Given the description of an element on the screen output the (x, y) to click on. 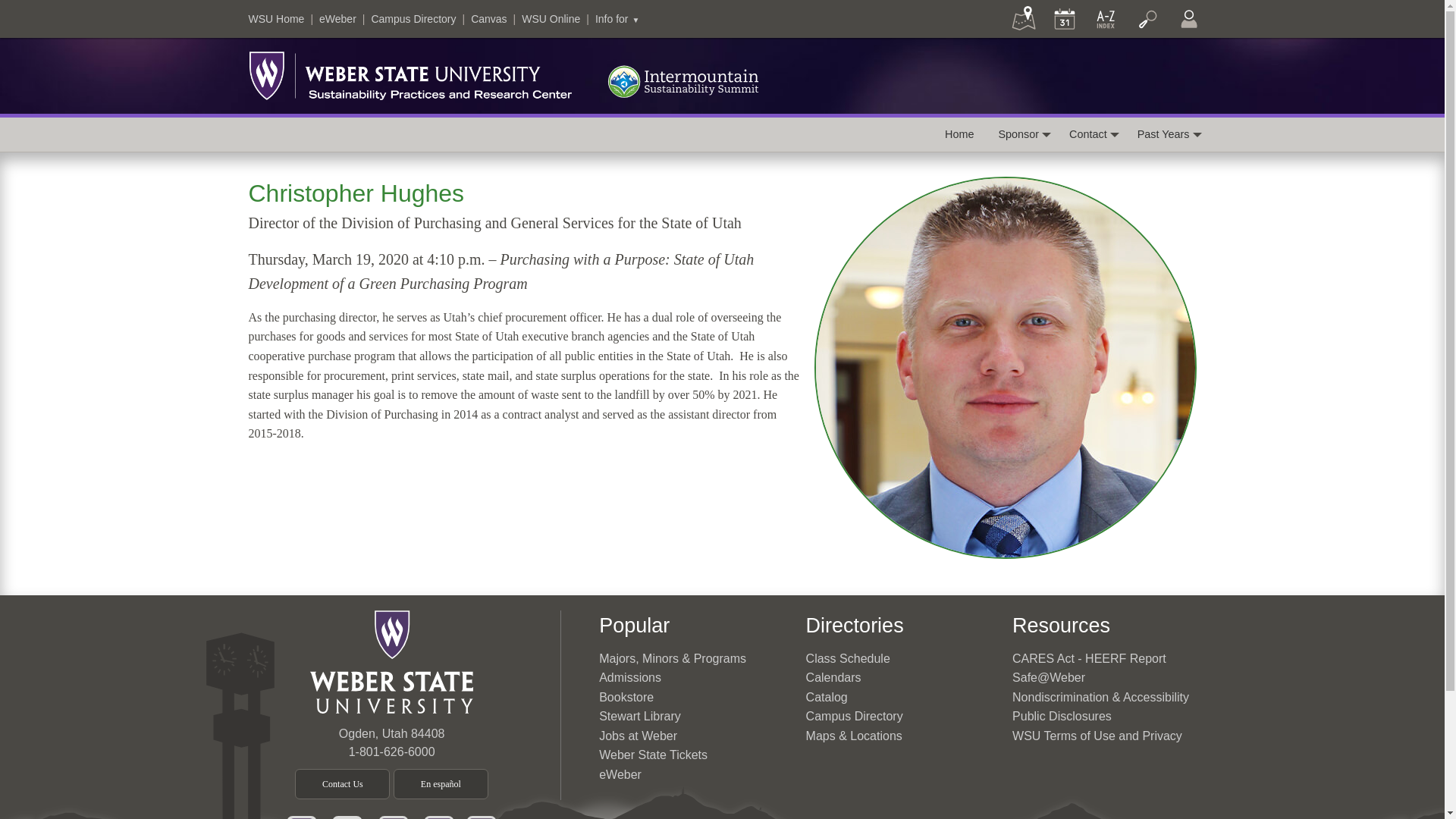
Follow us on Instagram (438, 815)
Follow us on X (393, 815)
Follow us on TikTok (480, 815)
Info for (617, 19)
eWeber (337, 19)
Like us on Facebook (301, 815)
WSU Home (276, 19)
WSU Online (550, 19)
Canvas (488, 19)
Subscribe to our YouTube Channel (346, 815)
Campus Directory (413, 19)
